Given the description of an element on the screen output the (x, y) to click on. 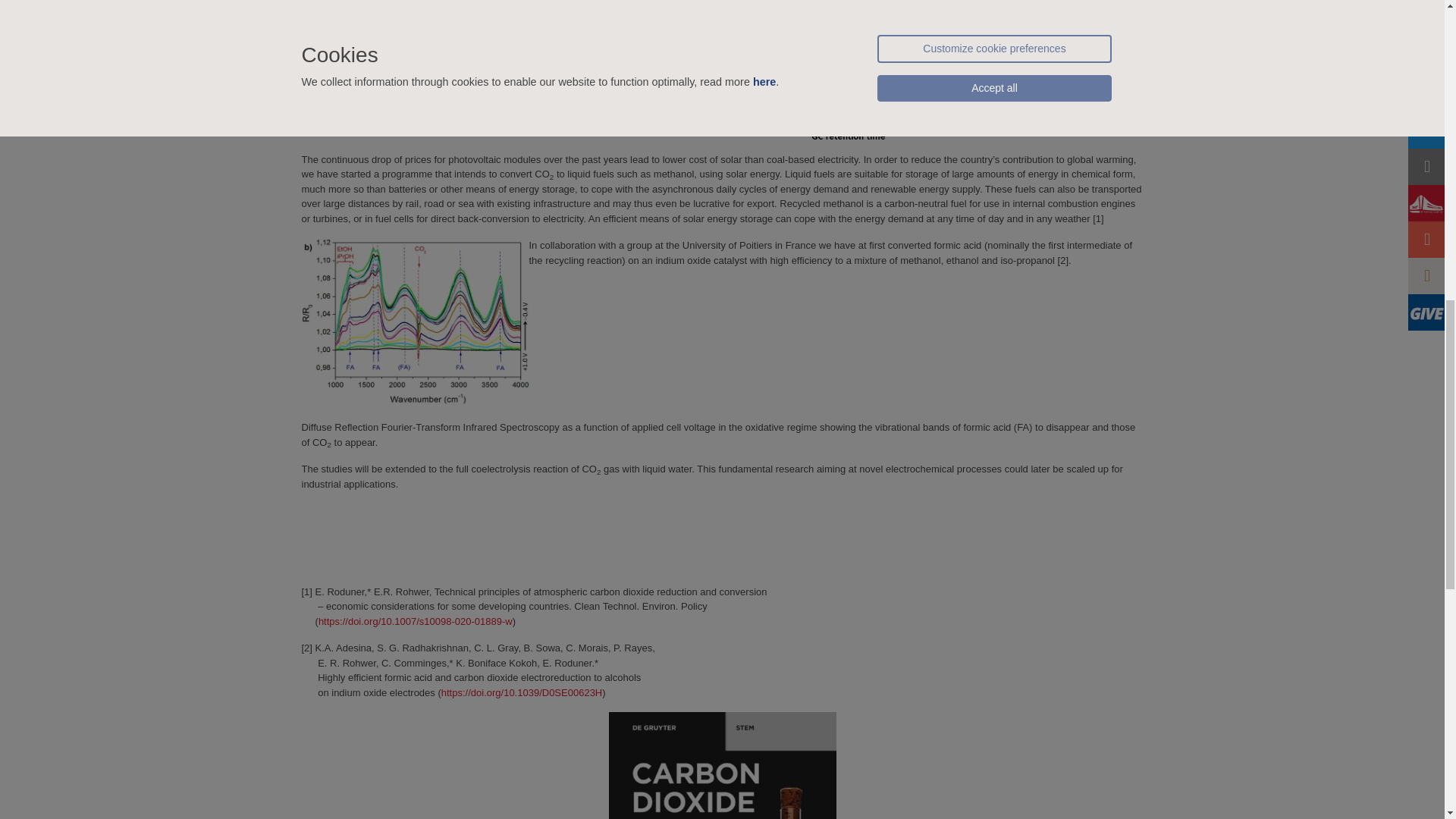
Link to landing page via DOI (521, 692)
